Given the description of an element on the screen output the (x, y) to click on. 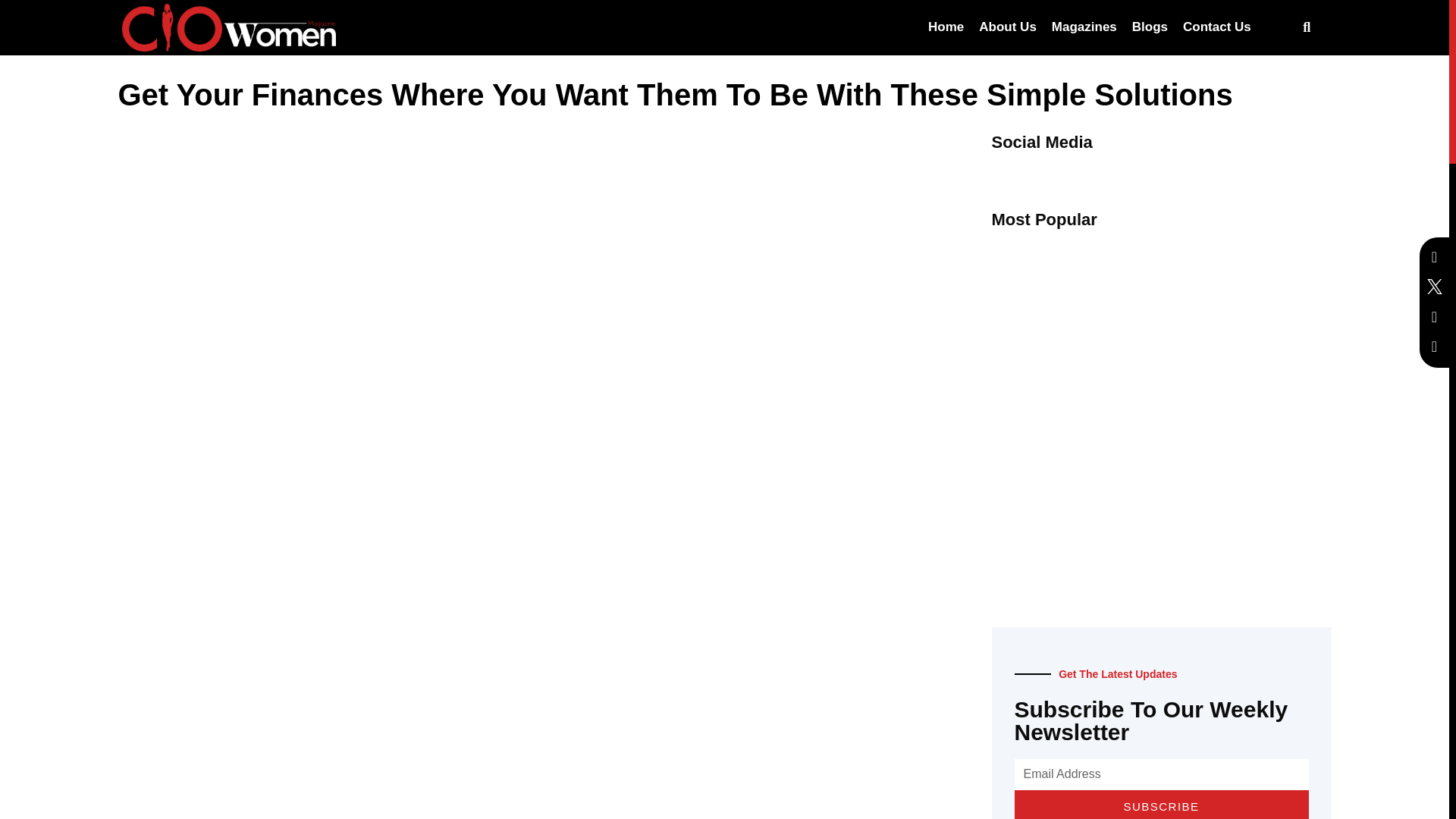
Home (945, 27)
Blogs (1149, 27)
Magazines (1083, 27)
Contact Us (1216, 27)
SUBSCRIBE (1161, 804)
About Us (1007, 27)
